Given the description of an element on the screen output the (x, y) to click on. 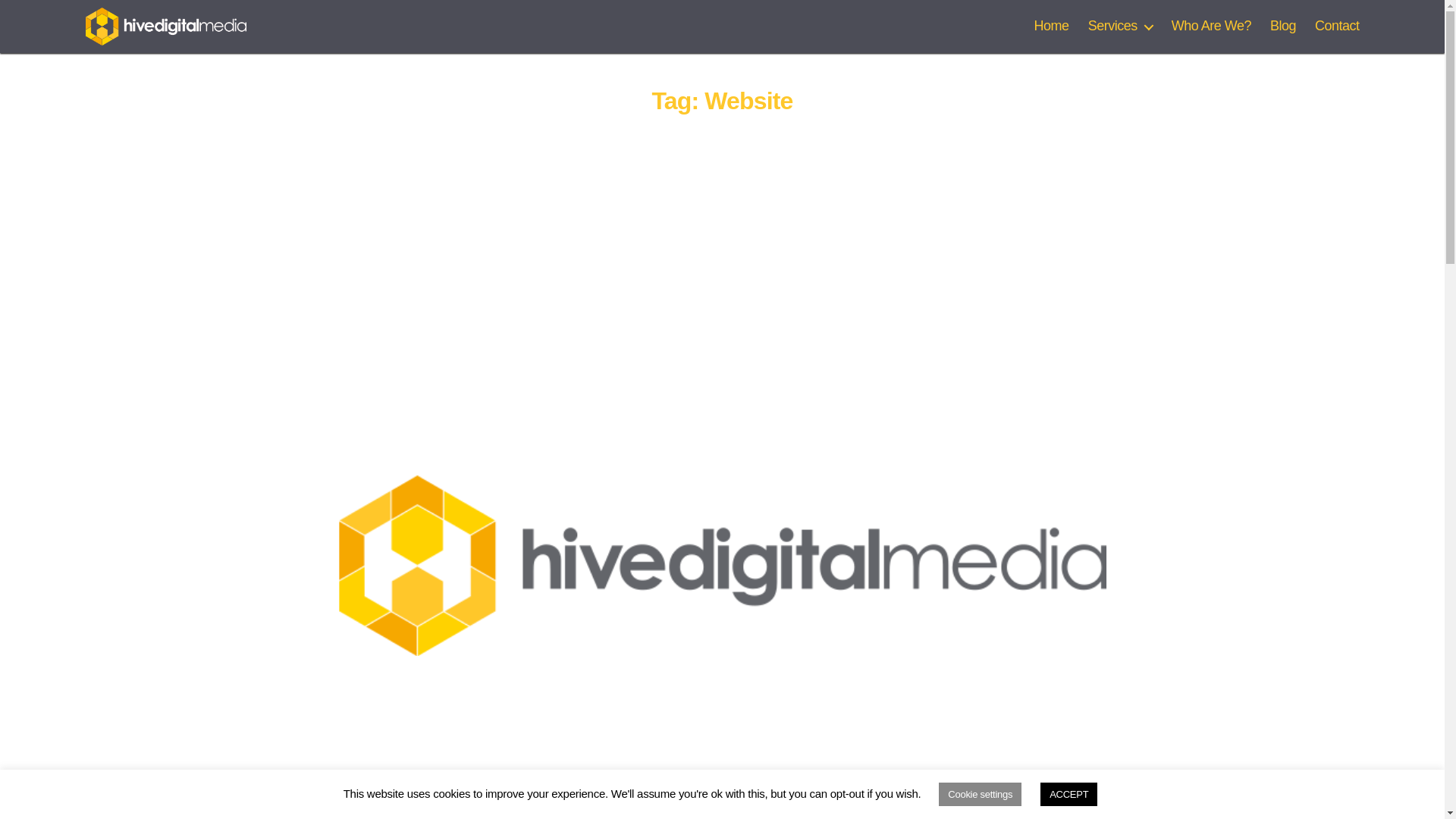
Who Are We? (1211, 26)
Blog (1282, 26)
Home (1050, 26)
Contact (1336, 26)
Services (1120, 26)
